Given the description of an element on the screen output the (x, y) to click on. 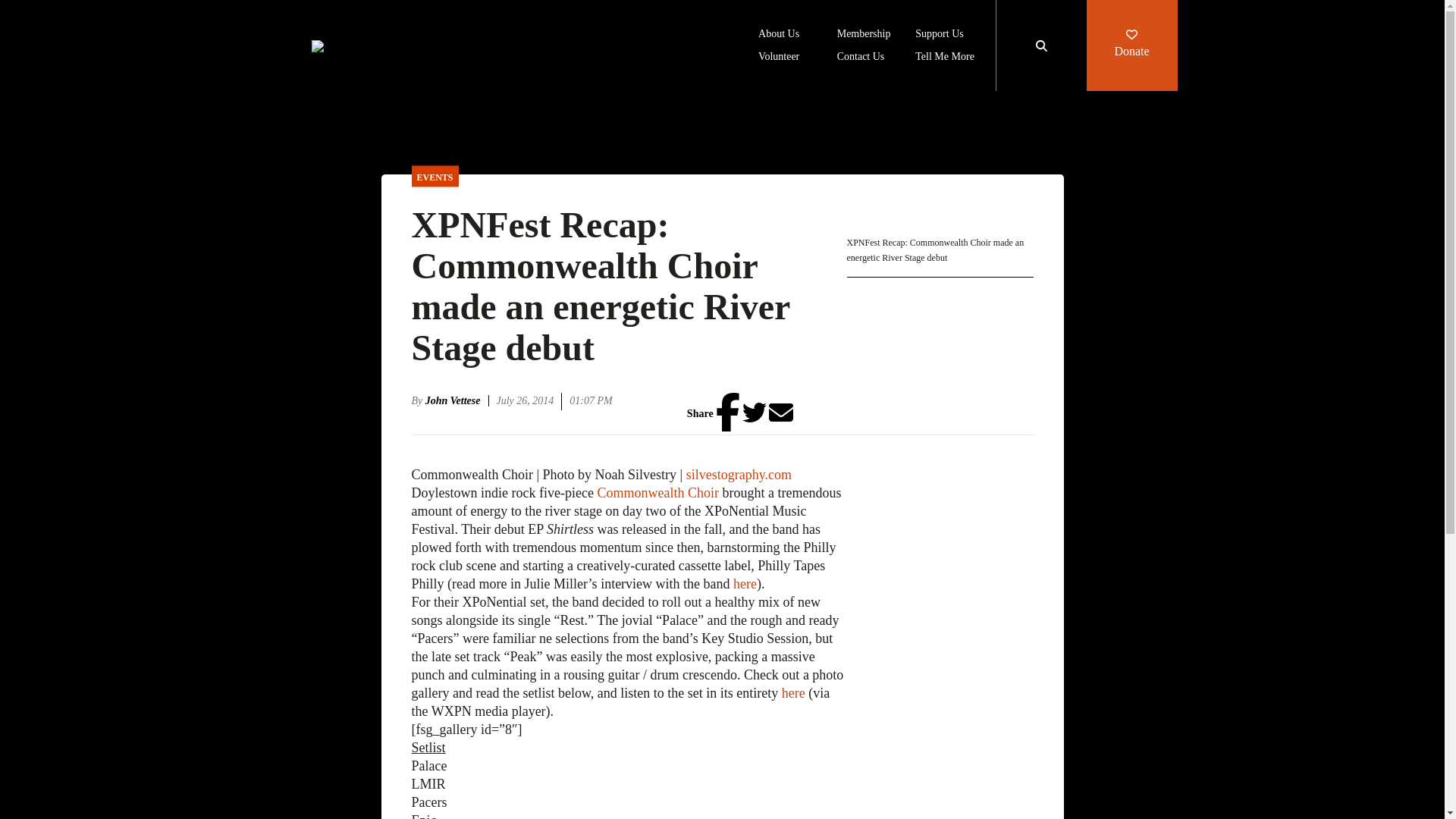
Contact Us (861, 57)
Commonwealth Choir (657, 492)
here (745, 583)
John Vettese (457, 400)
Volunteer (778, 57)
here (793, 693)
Tell Me More (944, 57)
Support Us (938, 35)
About Us (778, 35)
Membership (864, 35)
silvestography.com (738, 474)
Donate (1131, 45)
